Given the description of an element on the screen output the (x, y) to click on. 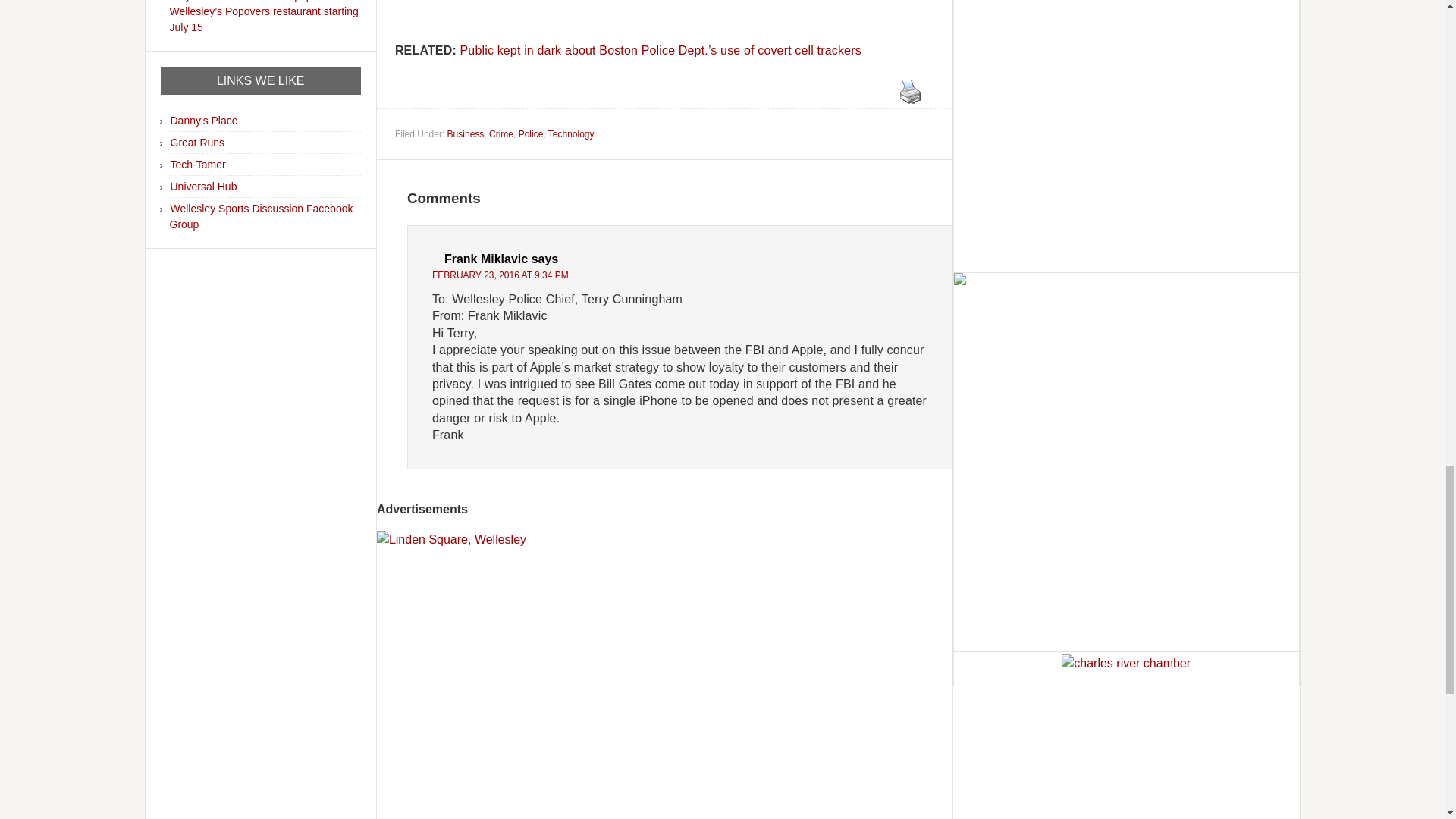
Print Content (910, 91)
Business (465, 133)
Crime (501, 133)
